Given the description of an element on the screen output the (x, y) to click on. 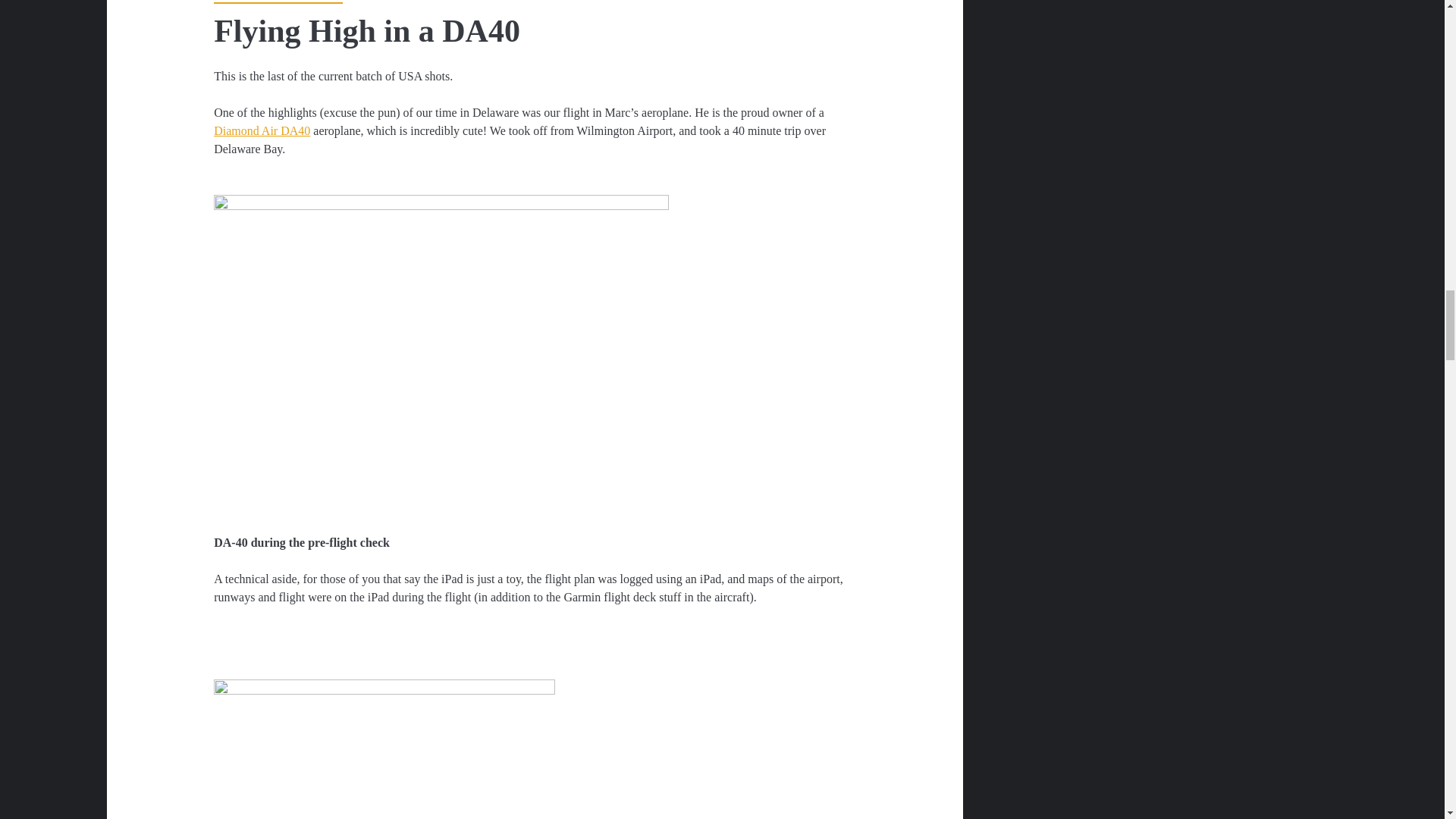
Flying High in a DA40 (366, 30)
Diamond Air DA40 (262, 130)
